Given the description of an element on the screen output the (x, y) to click on. 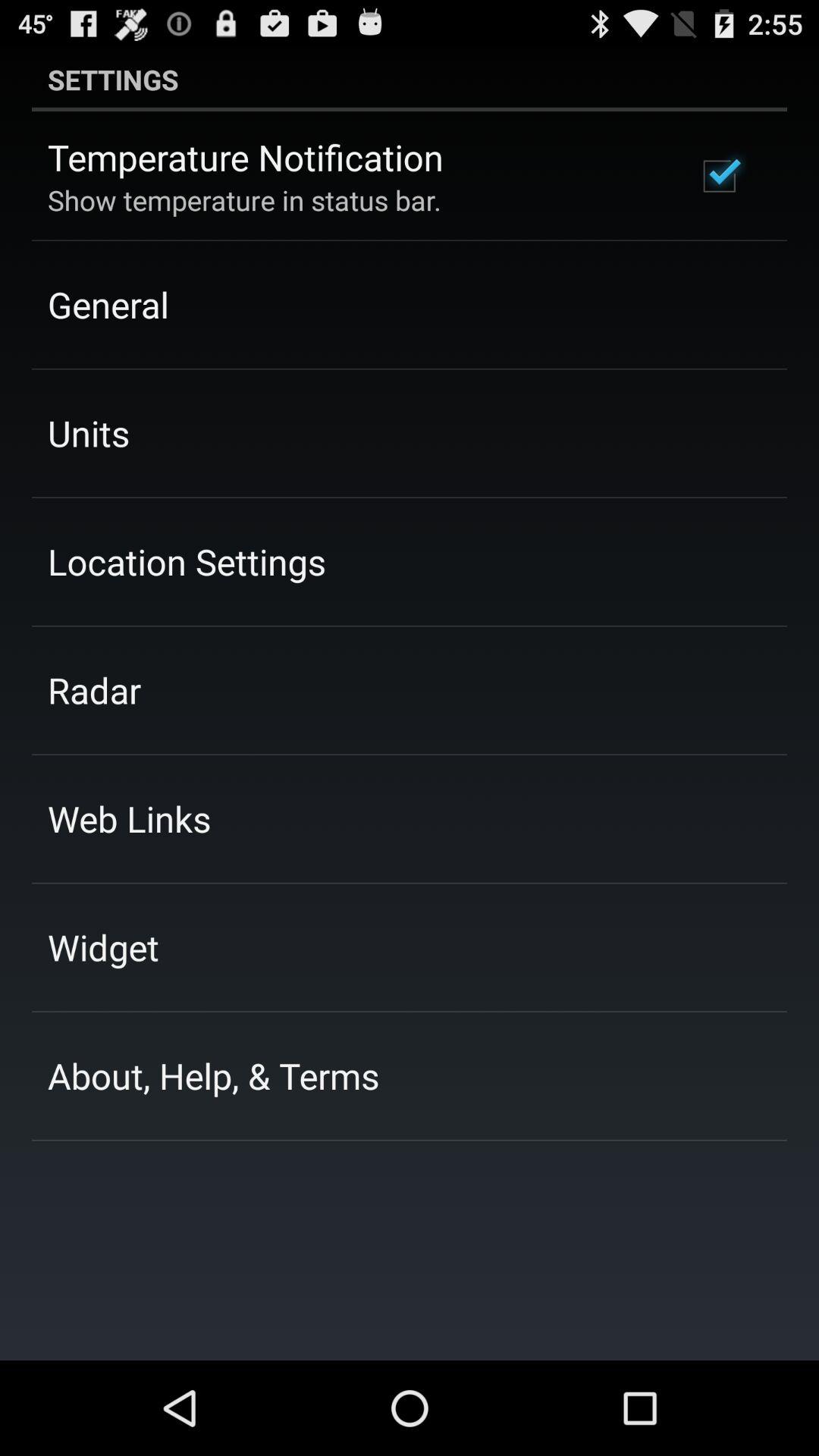
choose the item below the settings (719, 176)
